Given the description of an element on the screen output the (x, y) to click on. 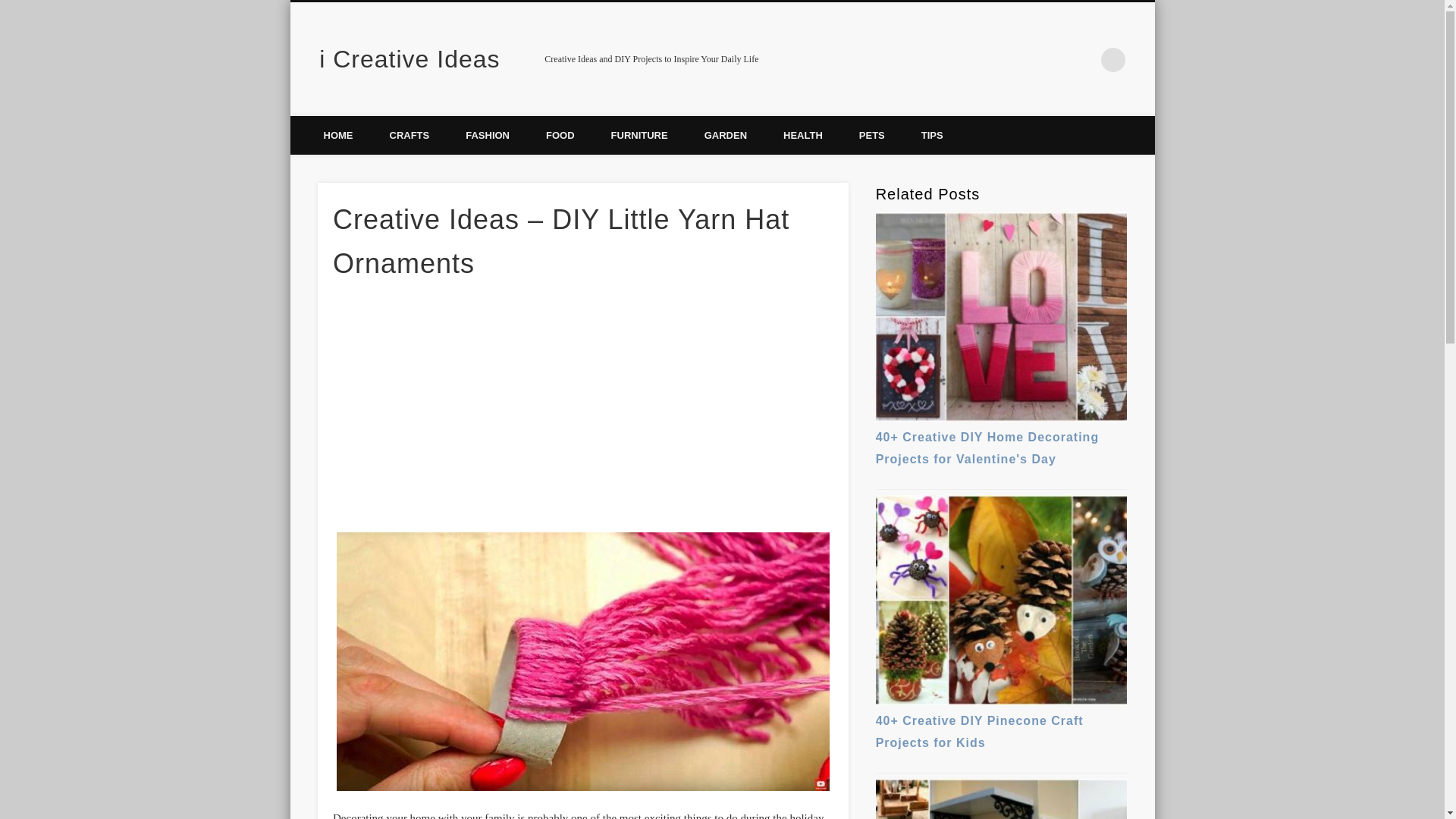
Pinterest (1082, 59)
HEALTH (803, 135)
GARDEN (725, 135)
Search (11, 7)
i Creative Ideas (408, 58)
CRAFTS (409, 135)
FASHION (486, 135)
PETS (871, 135)
TIPS (931, 135)
FURNITURE (638, 135)
